Given the description of an element on the screen output the (x, y) to click on. 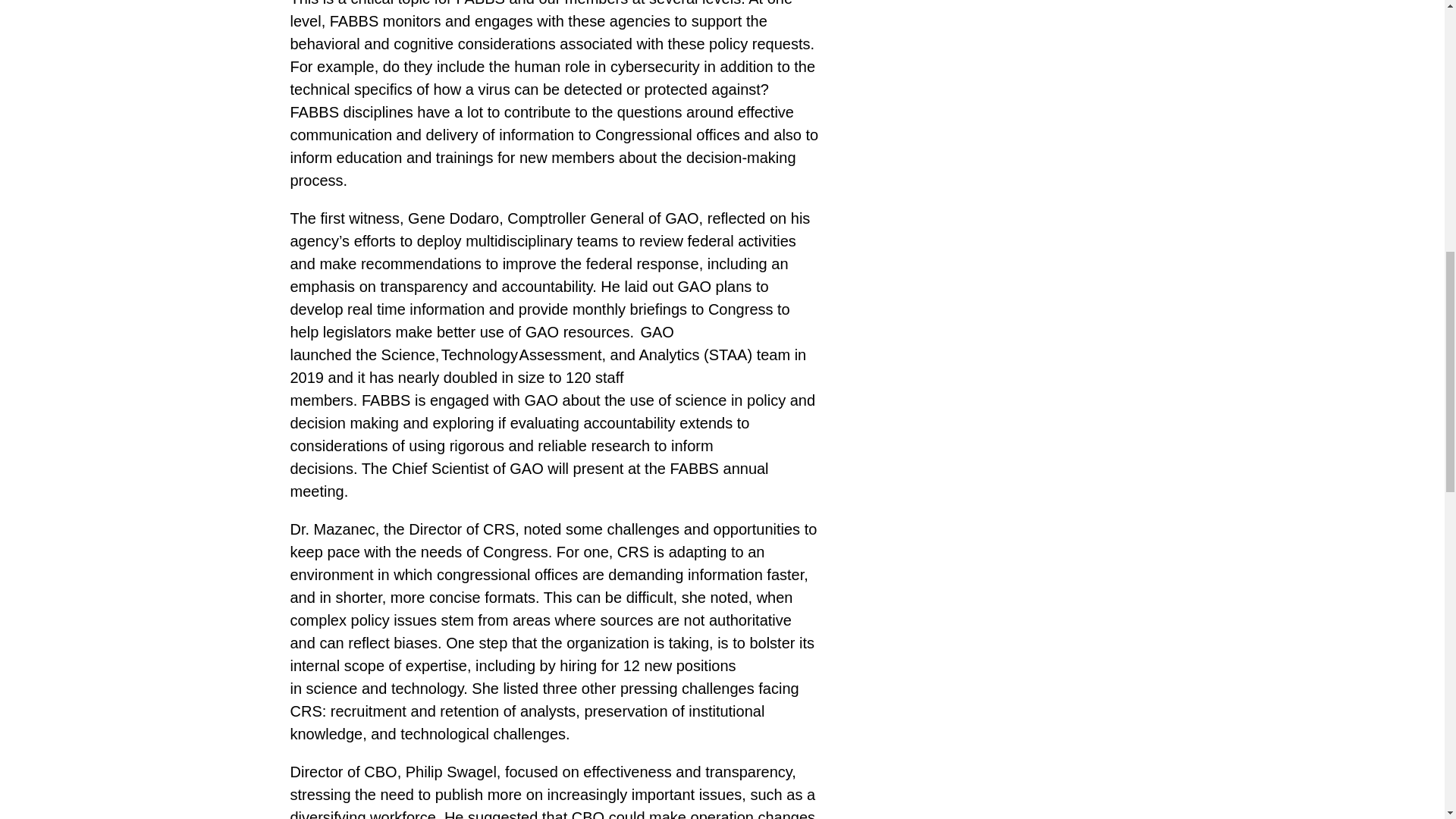
Scroll back to top (1406, 714)
